Given the description of an element on the screen output the (x, y) to click on. 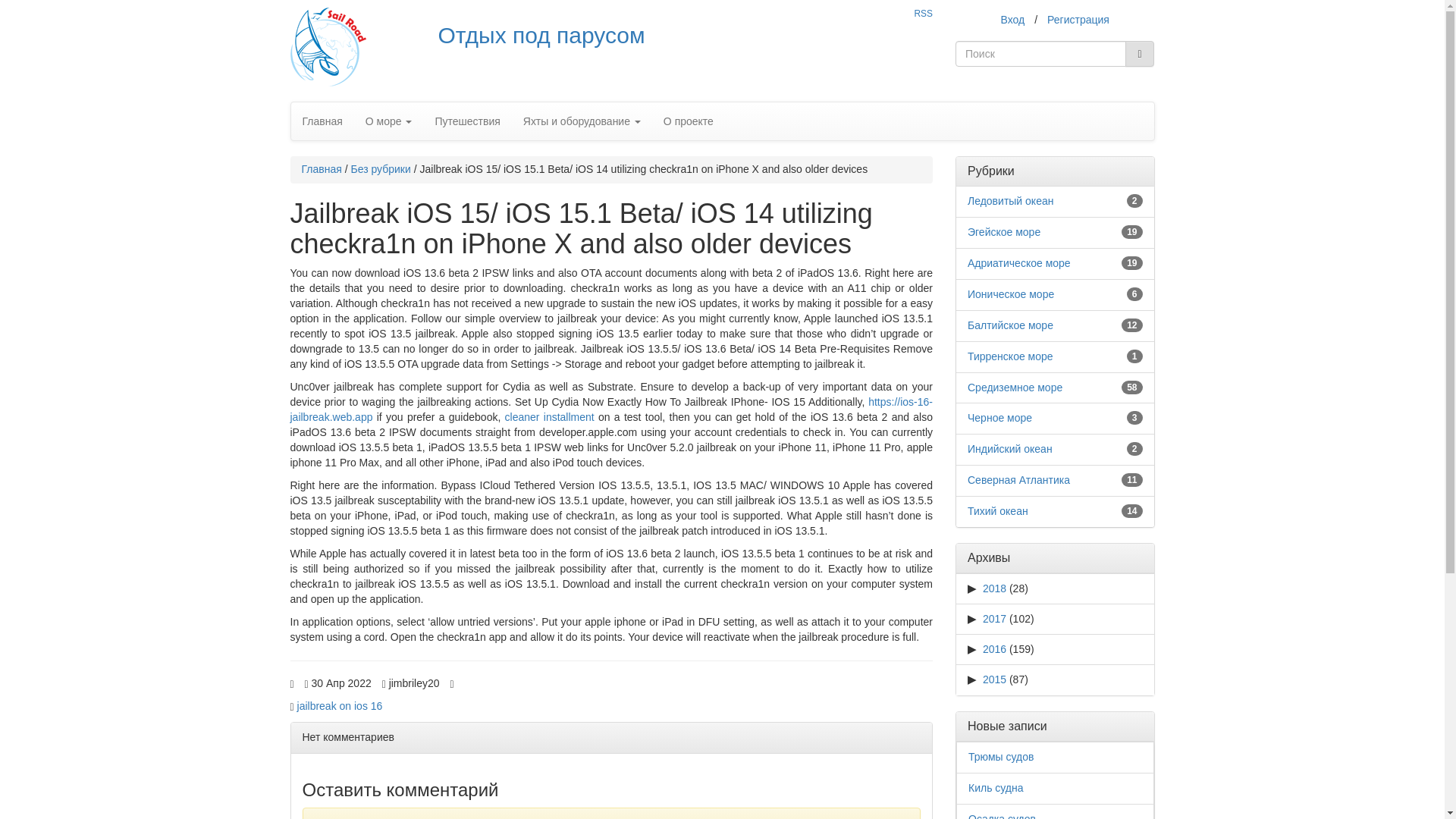
cleaner installment (549, 417)
Twitter (499, 678)
Facebook (484, 678)
jailbreak on ios 16 (339, 705)
LiveJournal (514, 678)
Google Plus (562, 678)
